Given the description of an element on the screen output the (x, y) to click on. 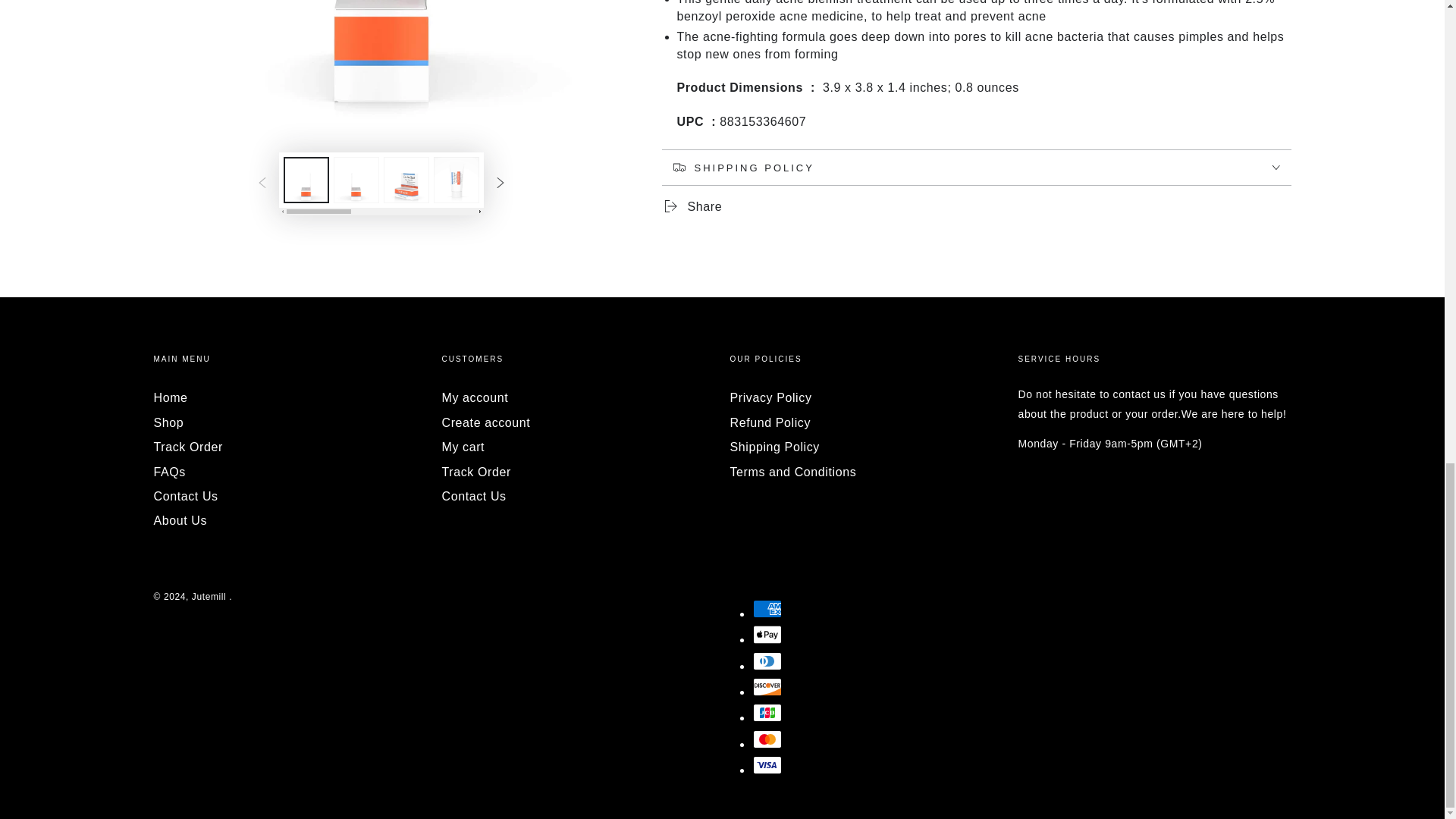
American Express (766, 608)
Apple Pay (766, 634)
Mastercard (766, 739)
Diners Club (766, 660)
Visa (766, 764)
Discover (766, 687)
JCB (766, 712)
